Given the description of an element on the screen output the (x, y) to click on. 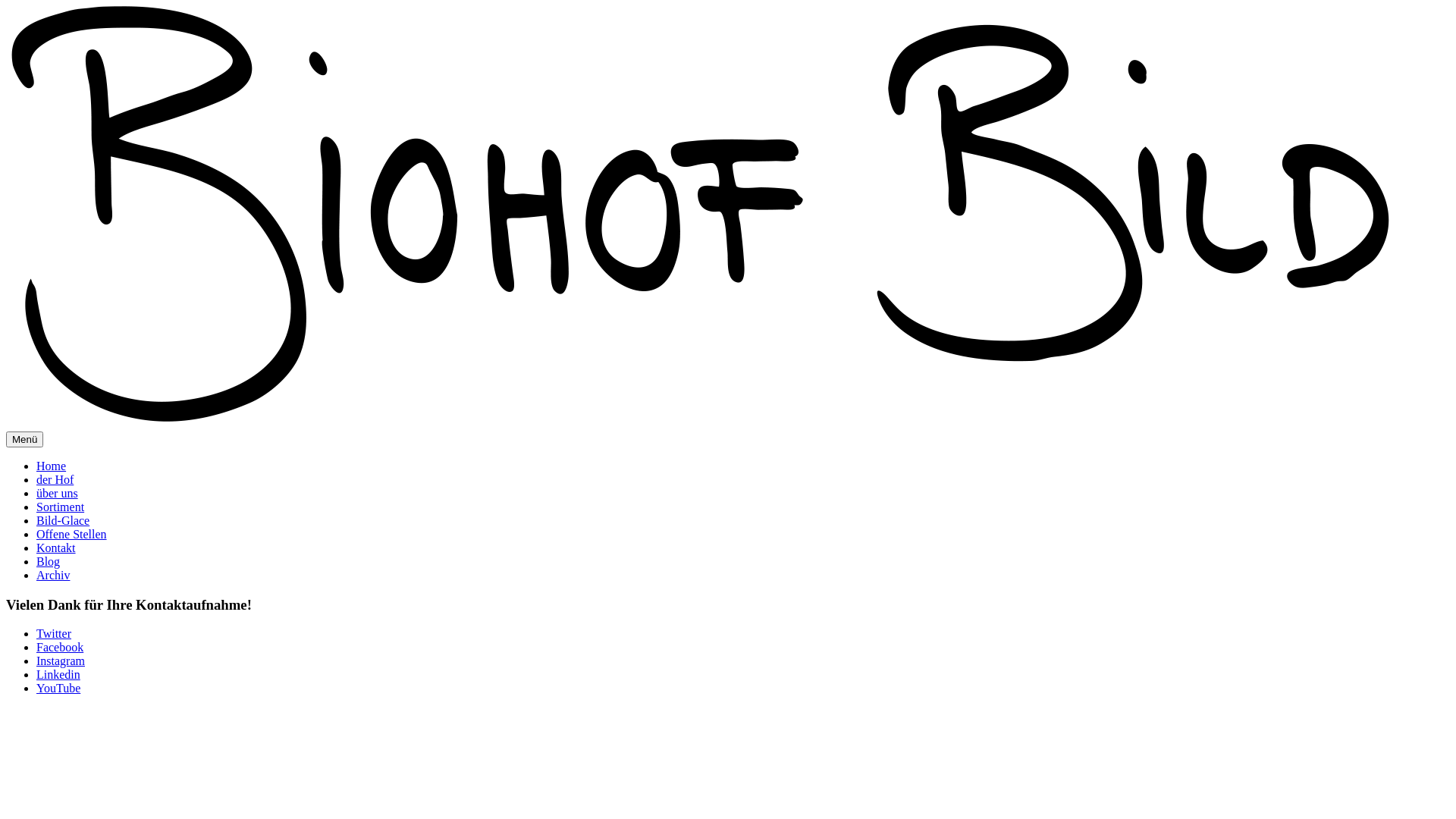
Kontakt Element type: text (55, 547)
YouTube Element type: text (58, 687)
Bild-Glace Element type: text (62, 520)
Home Element type: text (50, 465)
Offene Stellen Element type: text (71, 533)
Biohof Bild Element type: hover (699, 217)
der Hof Element type: text (54, 479)
Linkedin Element type: text (58, 674)
Blog Element type: text (47, 561)
Twitter Element type: text (53, 633)
Facebook Element type: text (59, 646)
Archiv Element type: text (52, 574)
Instagram Element type: text (60, 660)
Sortiment Element type: text (60, 506)
